Given the description of an element on the screen output the (x, y) to click on. 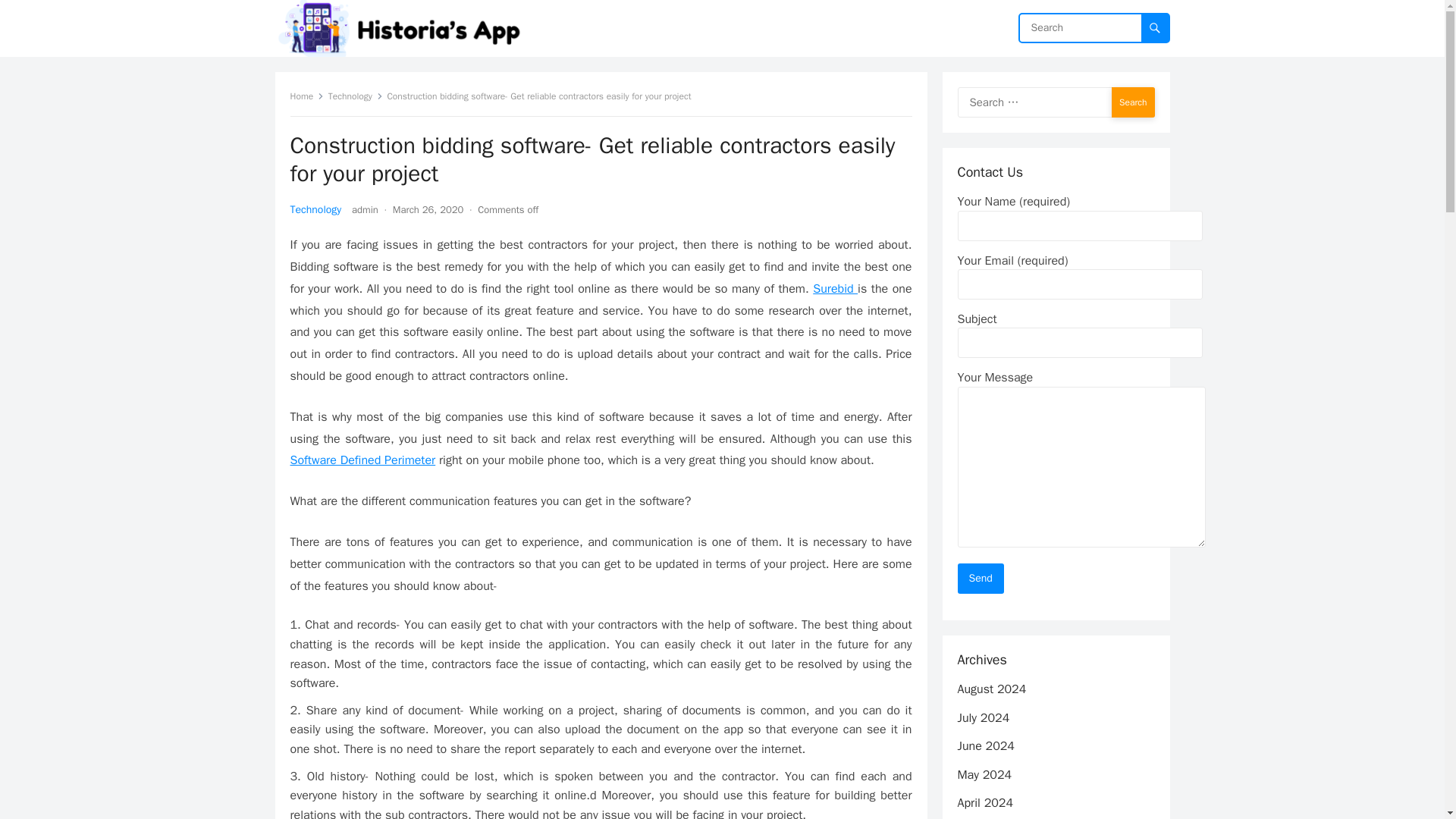
Technology (355, 96)
Home (306, 96)
Send (979, 578)
Surebid (834, 288)
Posts by admin (365, 209)
Technology (314, 209)
Search (1133, 101)
Search (1133, 101)
Software Defined Perimeter (362, 459)
admin (365, 209)
